Given the description of an element on the screen output the (x, y) to click on. 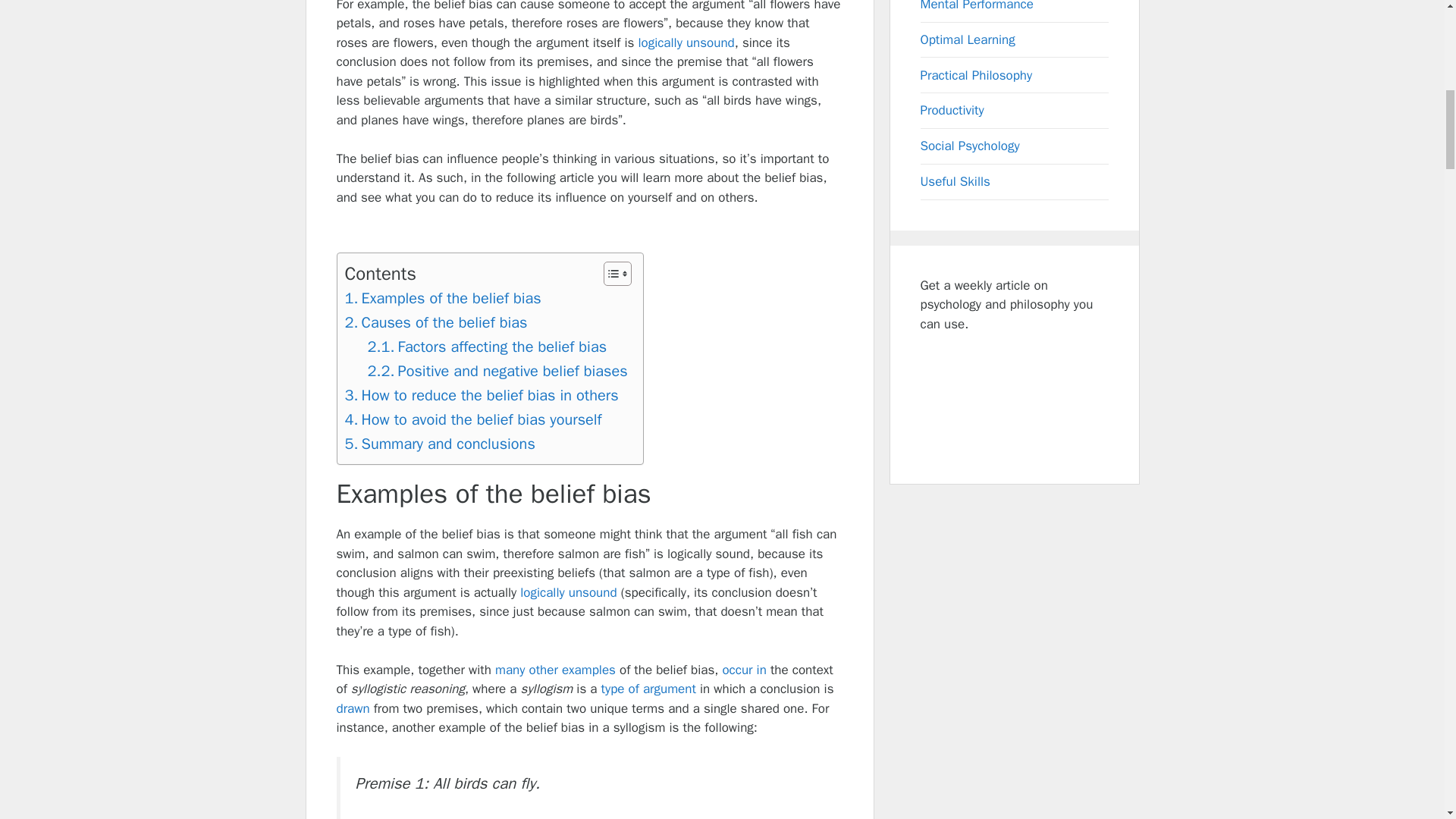
Positive and negative belief biases (496, 371)
Causes of the belief bias (435, 322)
Summary and conclusions (438, 444)
Causes of the belief bias (435, 322)
many other examples (555, 669)
drawn (352, 708)
logically unsound (567, 592)
Positive and negative belief biases (496, 371)
How to avoid the belief bias yourself (472, 419)
How to reduce the belief bias in others (480, 395)
